Given the description of an element on the screen output the (x, y) to click on. 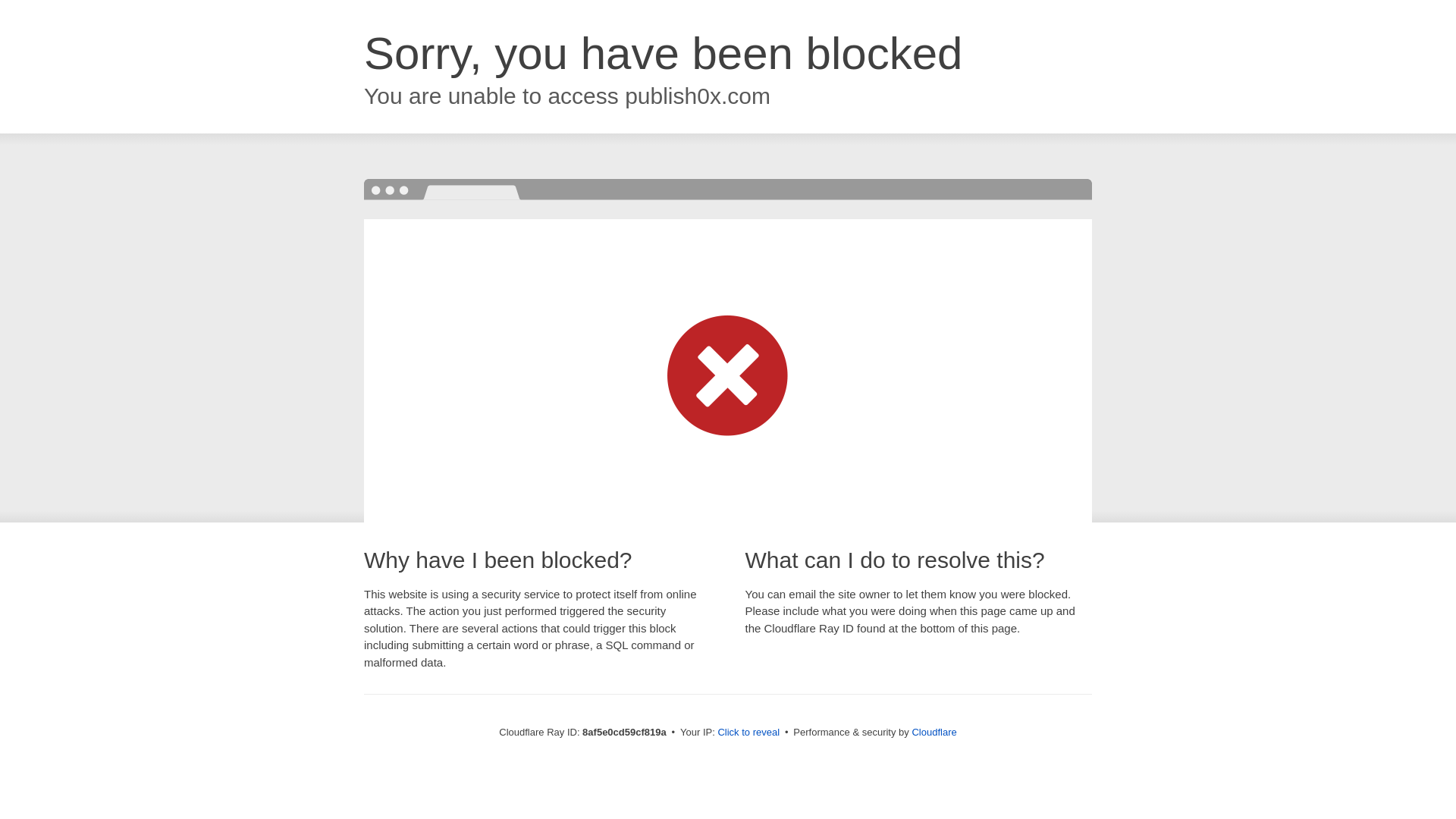
Click to reveal (747, 732)
Cloudflare (933, 731)
